Given the description of an element on the screen output the (x, y) to click on. 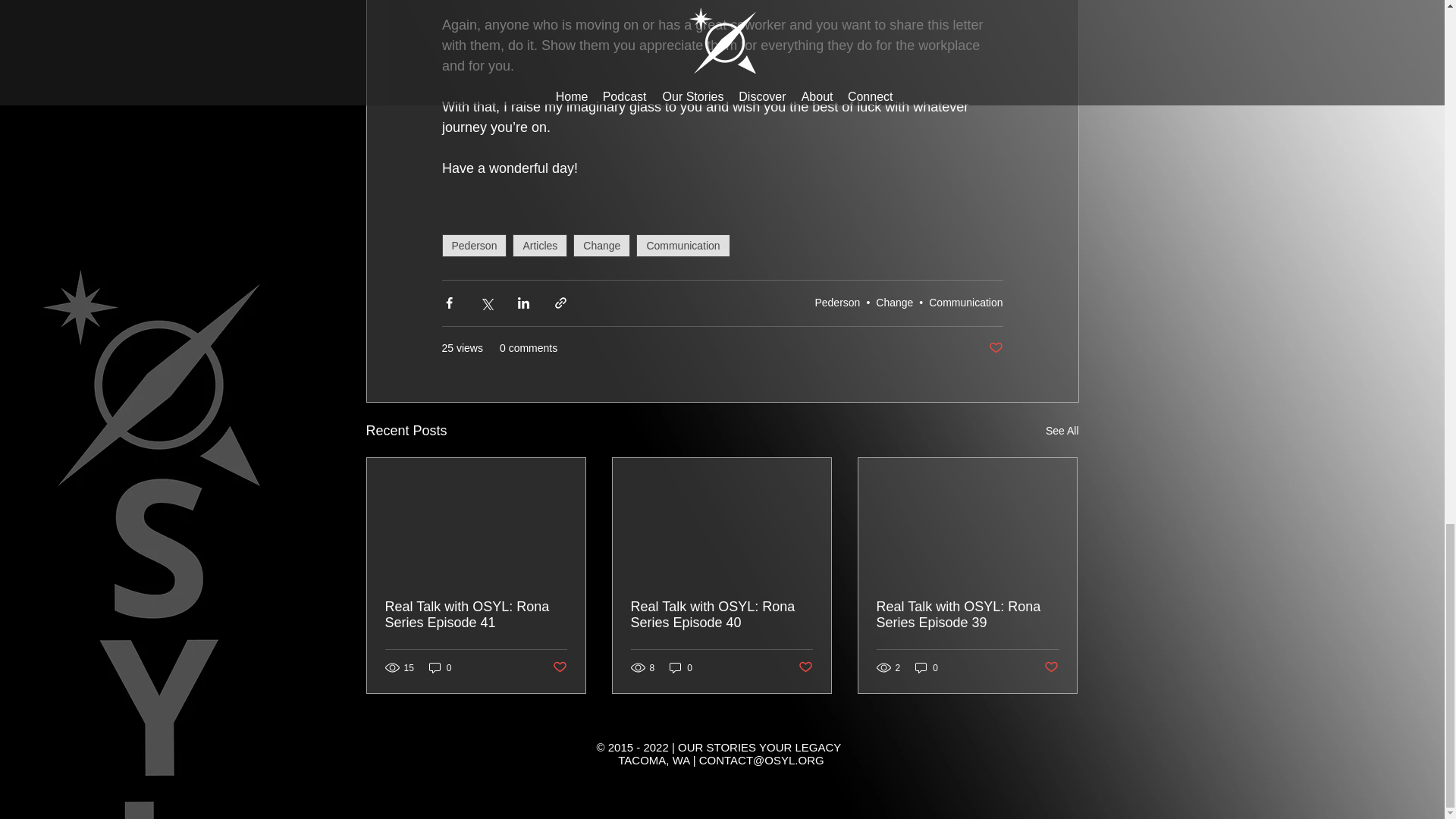
Real Talk with OSYL: Rona Series Episode 41 (476, 614)
Change (894, 302)
Change (601, 245)
Post not marked as liked (995, 348)
Communication (965, 302)
See All (1061, 431)
0 (440, 667)
Post not marked as liked (558, 667)
Pederson (836, 302)
Articles (539, 245)
Communication (682, 245)
Real Talk with OSYL: Rona Series Episode 40 (721, 614)
Pederson (473, 245)
